Given the description of an element on the screen output the (x, y) to click on. 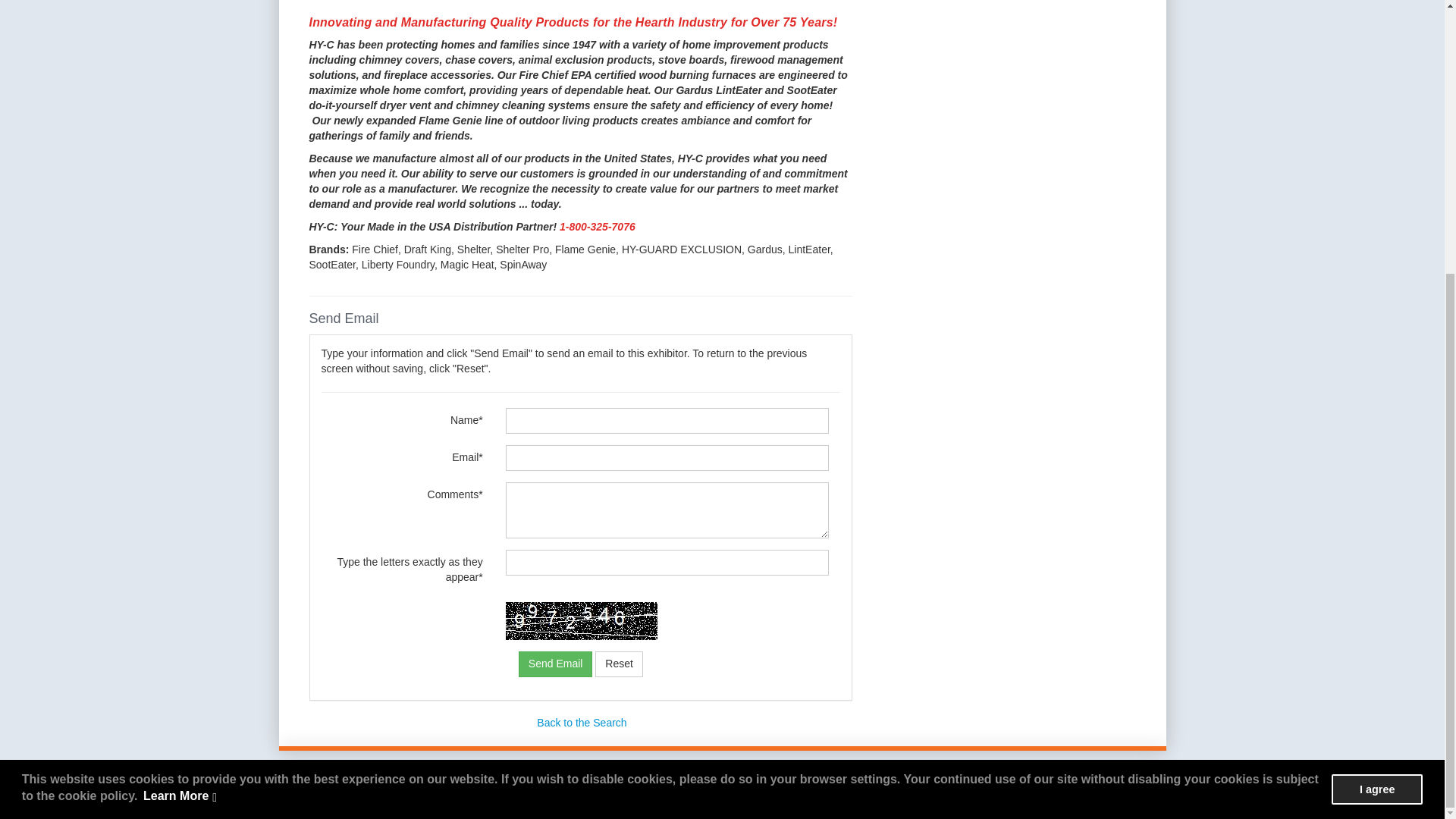
Cancel (619, 664)
Reset (619, 664)
Send Email (555, 664)
I agree (1377, 386)
Learn More (180, 394)
